Given the description of an element on the screen output the (x, y) to click on. 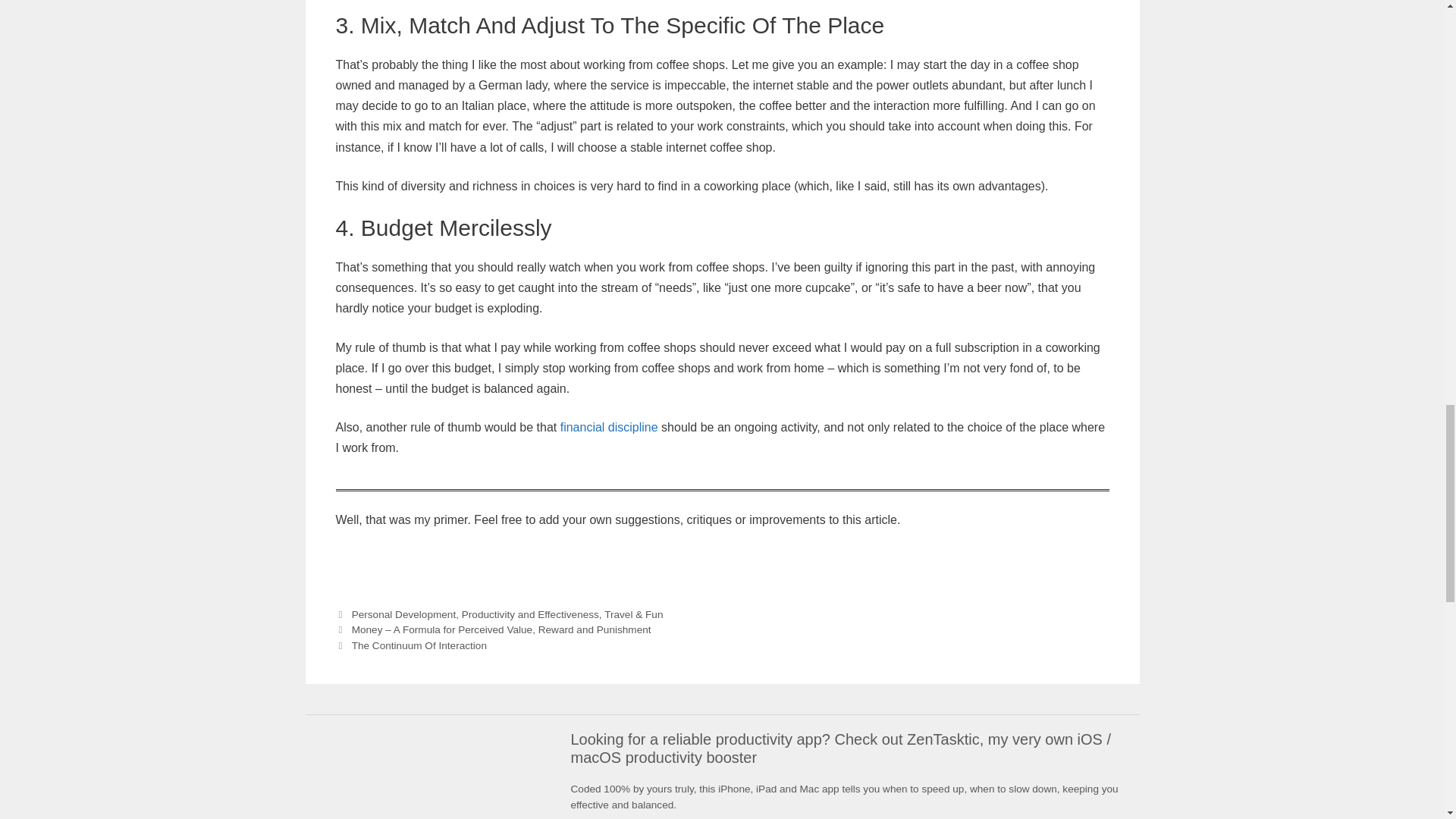
Personal Development (404, 614)
Productivity and Effectiveness (529, 614)
Next (410, 645)
The Continuum Of Interaction (419, 645)
Previous (492, 629)
financial discipline (609, 427)
